Given the description of an element on the screen output the (x, y) to click on. 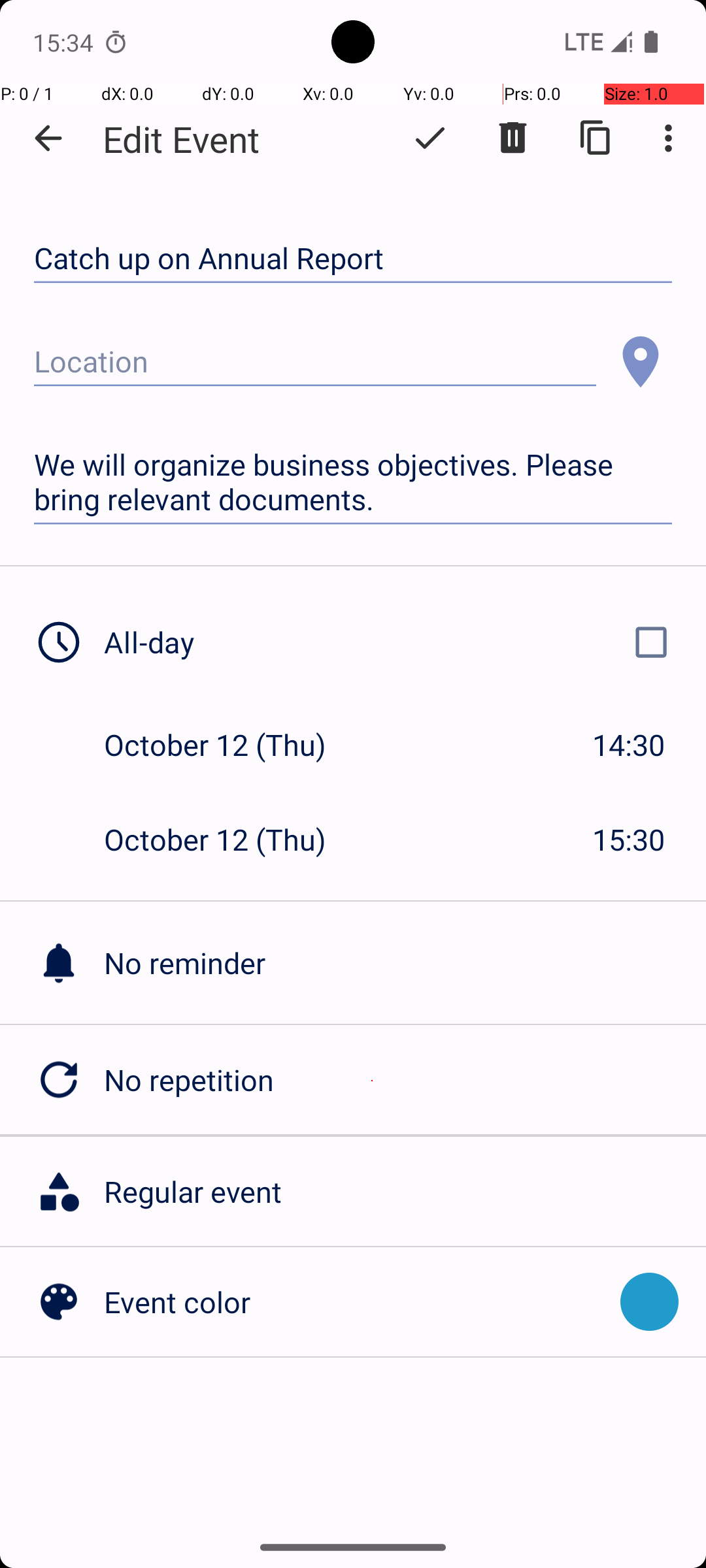
We will organize business objectives. Please bring relevant documents. Element type: android.widget.EditText (352, 482)
October 12 (Thu) Element type: android.widget.TextView (228, 744)
14:30 Element type: android.widget.TextView (628, 744)
15:30 Element type: android.widget.TextView (628, 838)
